Given the description of an element on the screen output the (x, y) to click on. 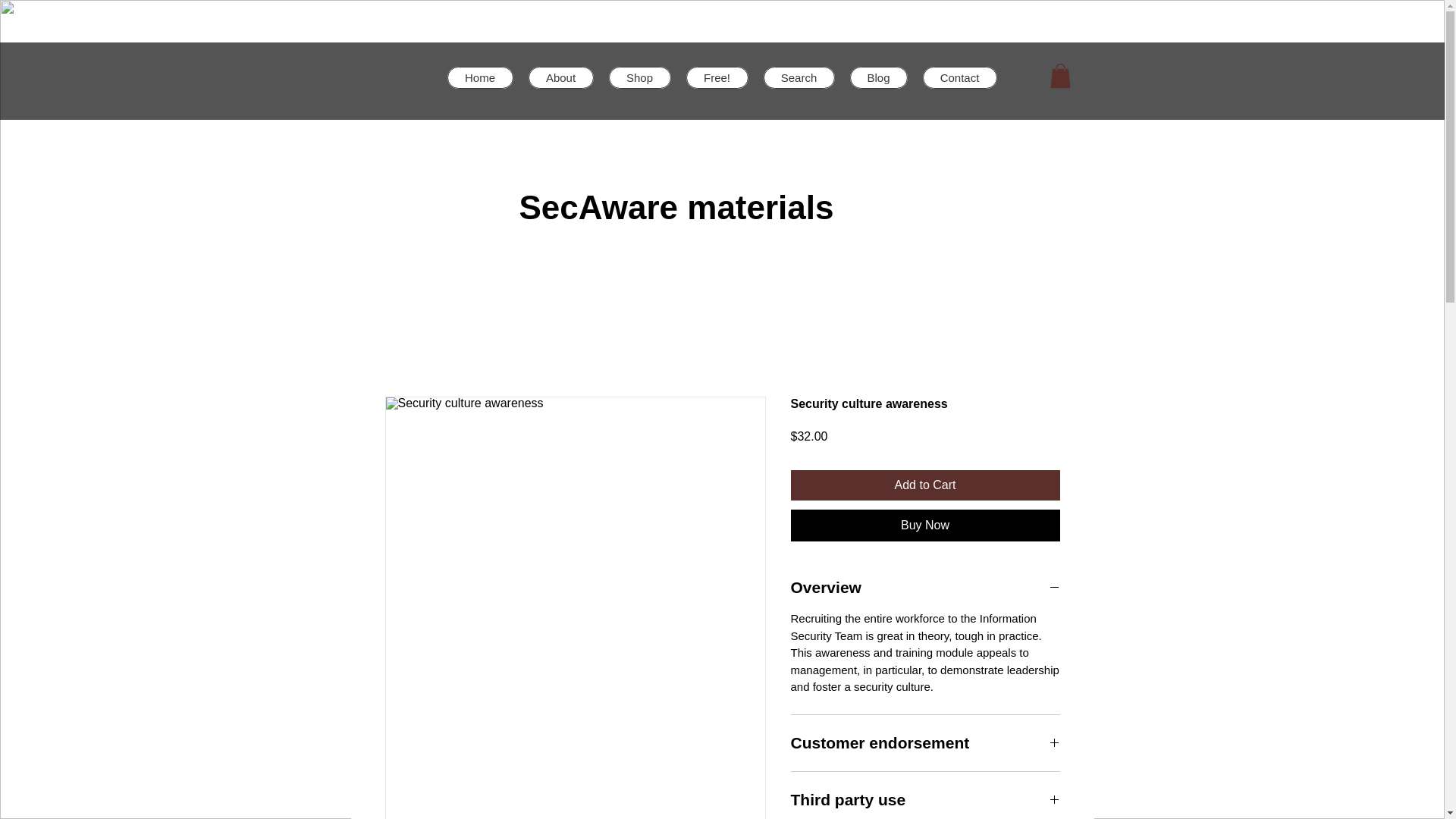
Contact (958, 77)
Customer endorsement (924, 742)
Free! (716, 77)
Home (479, 77)
About (559, 77)
Blog (877, 77)
Shop (638, 77)
Third party use (924, 799)
Search (798, 77)
Overview (924, 587)
